Given the description of an element on the screen output the (x, y) to click on. 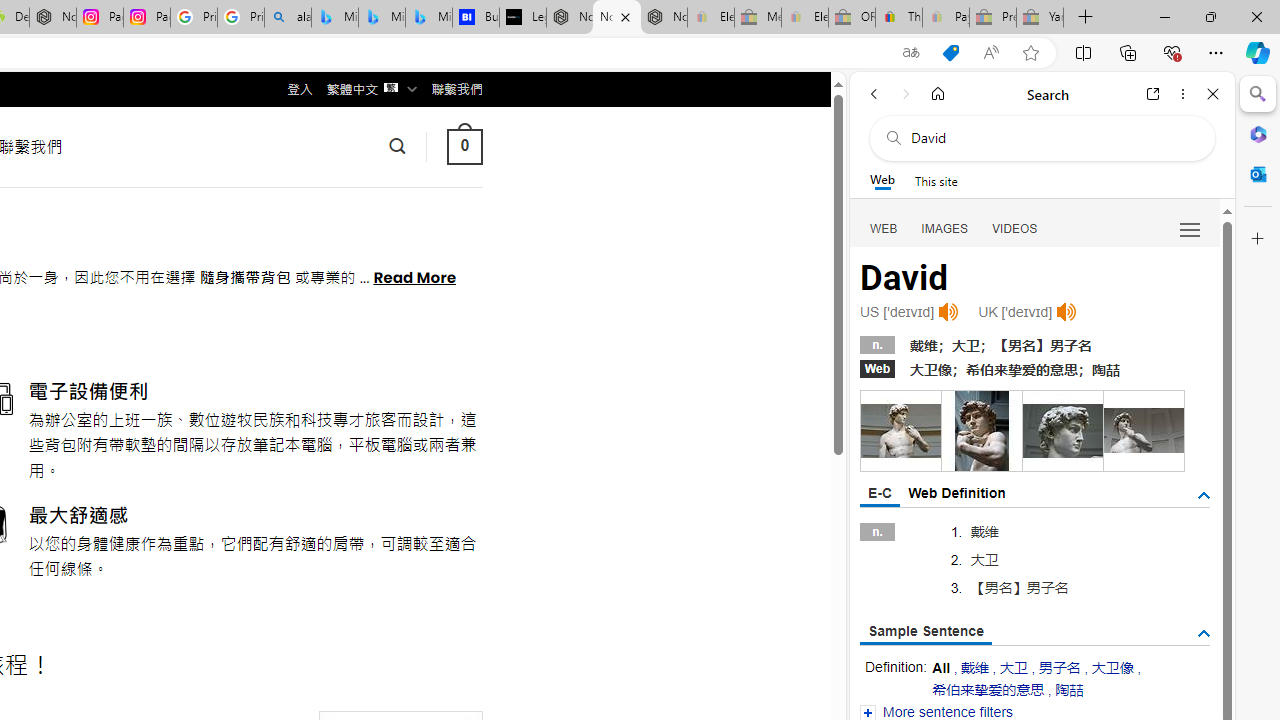
AutomationID: emb2E318D12 (900, 430)
WEB (884, 228)
Web Definition (956, 492)
Yard, Garden & Outdoor Living - Sleeping (1040, 17)
Open link in new tab (1153, 93)
Search Filter, VIDEOS (1015, 228)
Outlook (1258, 174)
Search the web (1051, 137)
  0   (464, 146)
Microsoft Bing Travel - Flights from Hong Kong to Bangkok (335, 17)
Web scope (882, 180)
